Given the description of an element on the screen output the (x, y) to click on. 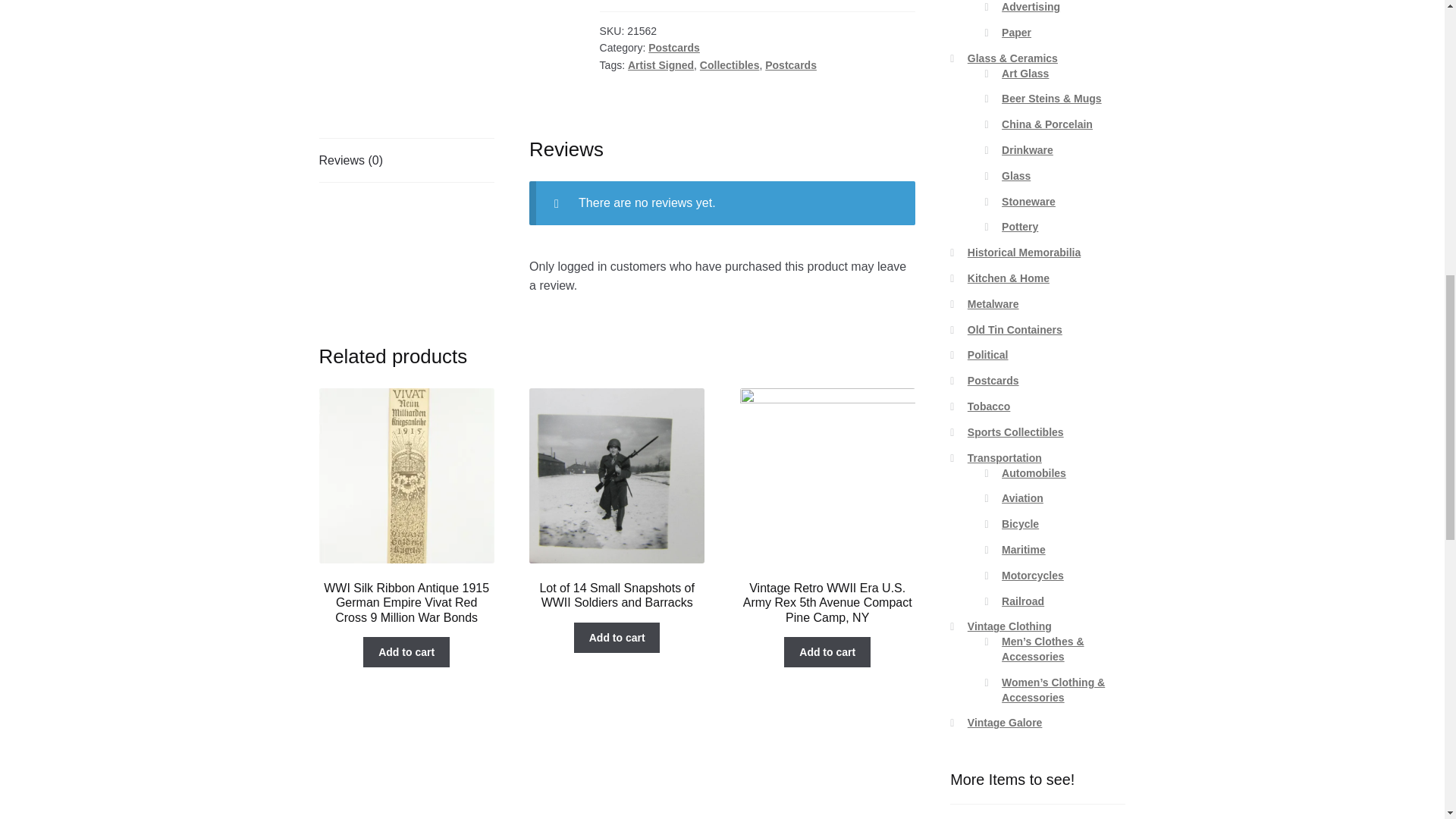
Add to cart (617, 637)
Artist Signed (660, 64)
Add to cart (827, 652)
Postcards (673, 47)
Add to cart (405, 652)
Collectibles (730, 64)
Postcards (790, 64)
